Given the description of an element on the screen output the (x, y) to click on. 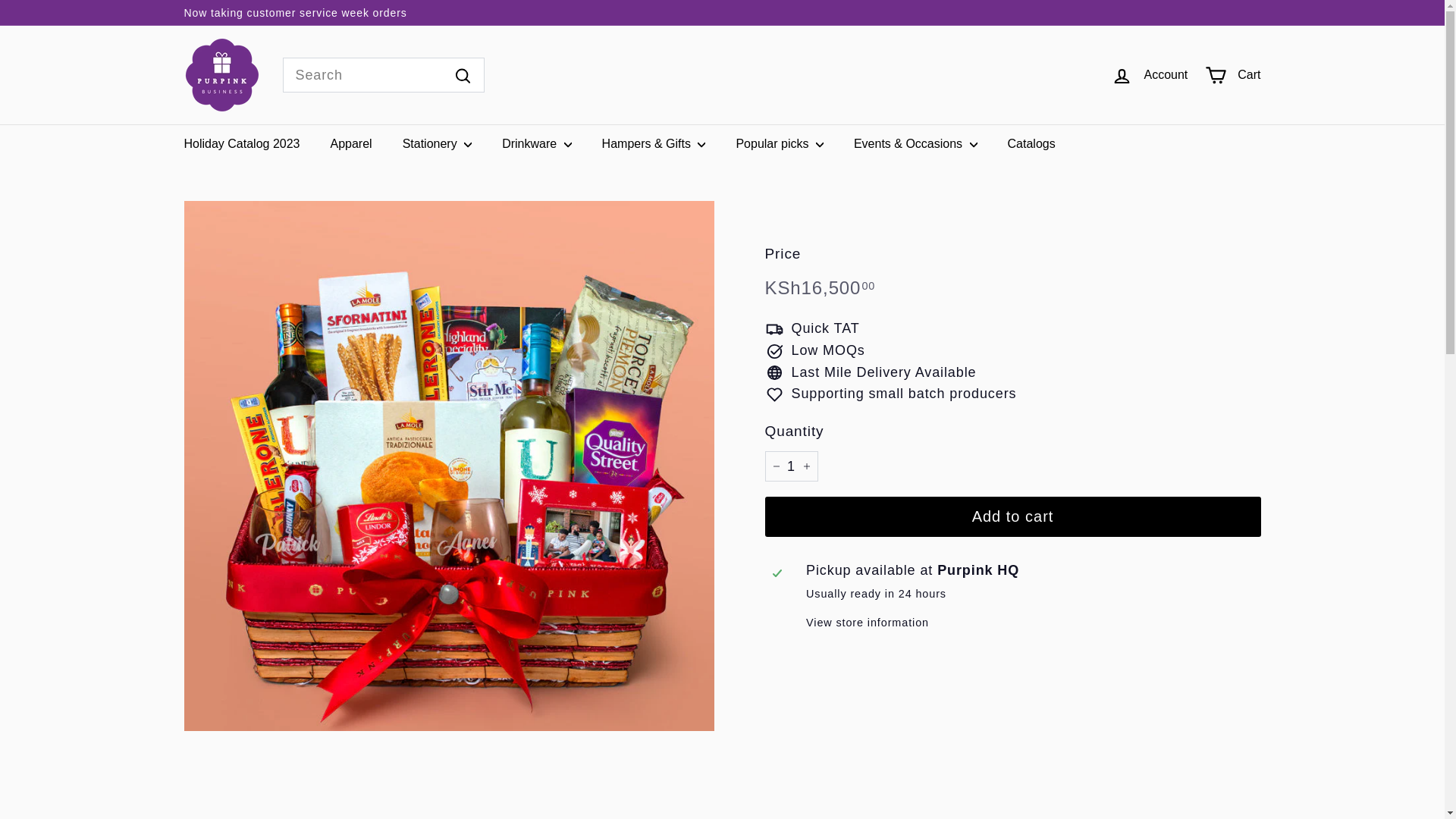
Holiday Catalog 2023 (241, 143)
1 (790, 466)
Apparel (351, 143)
Cart (1232, 75)
Account (1149, 75)
